Given the description of an element on the screen output the (x, y) to click on. 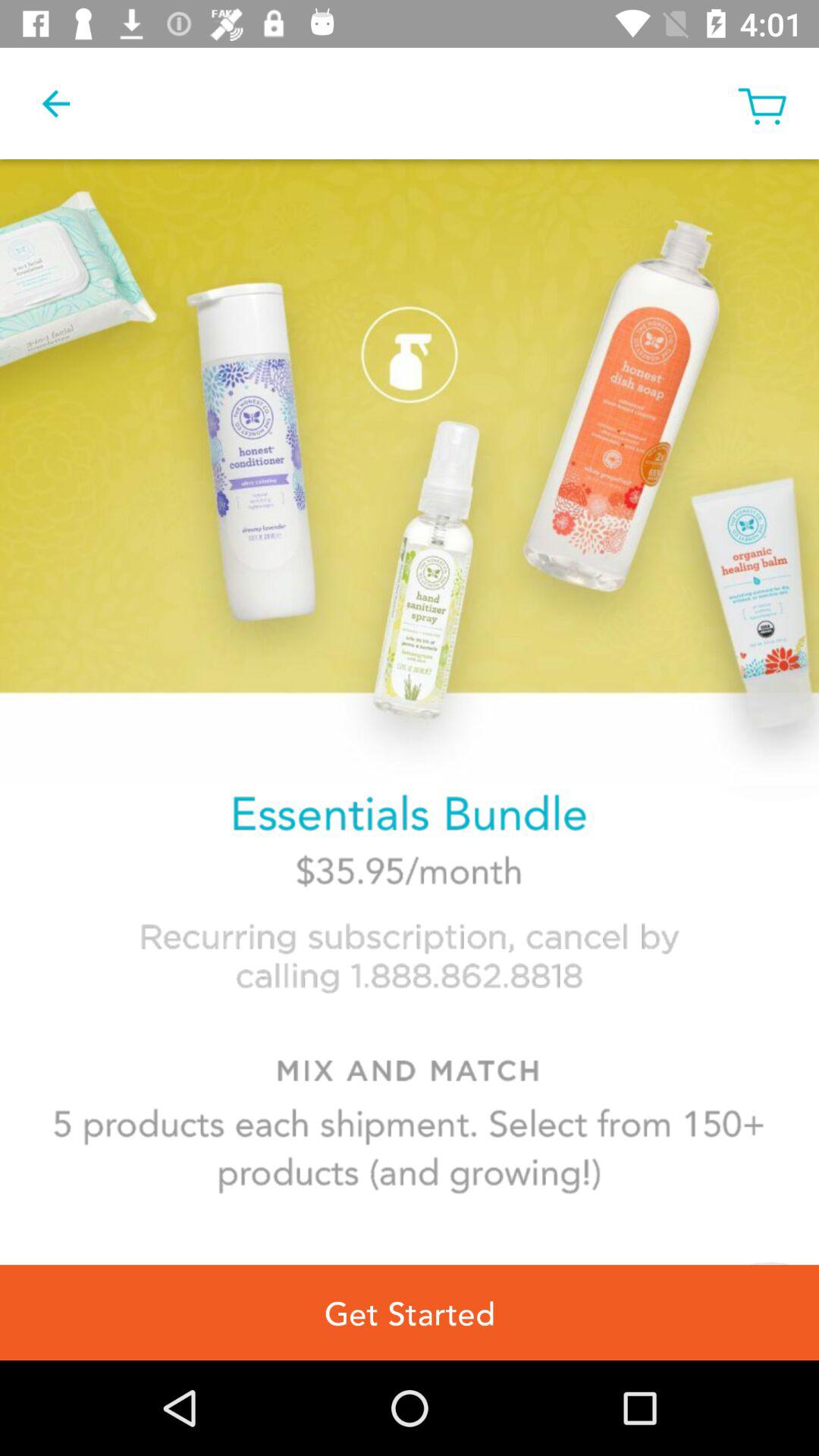
press the get started (409, 1312)
